Given the description of an element on the screen output the (x, y) to click on. 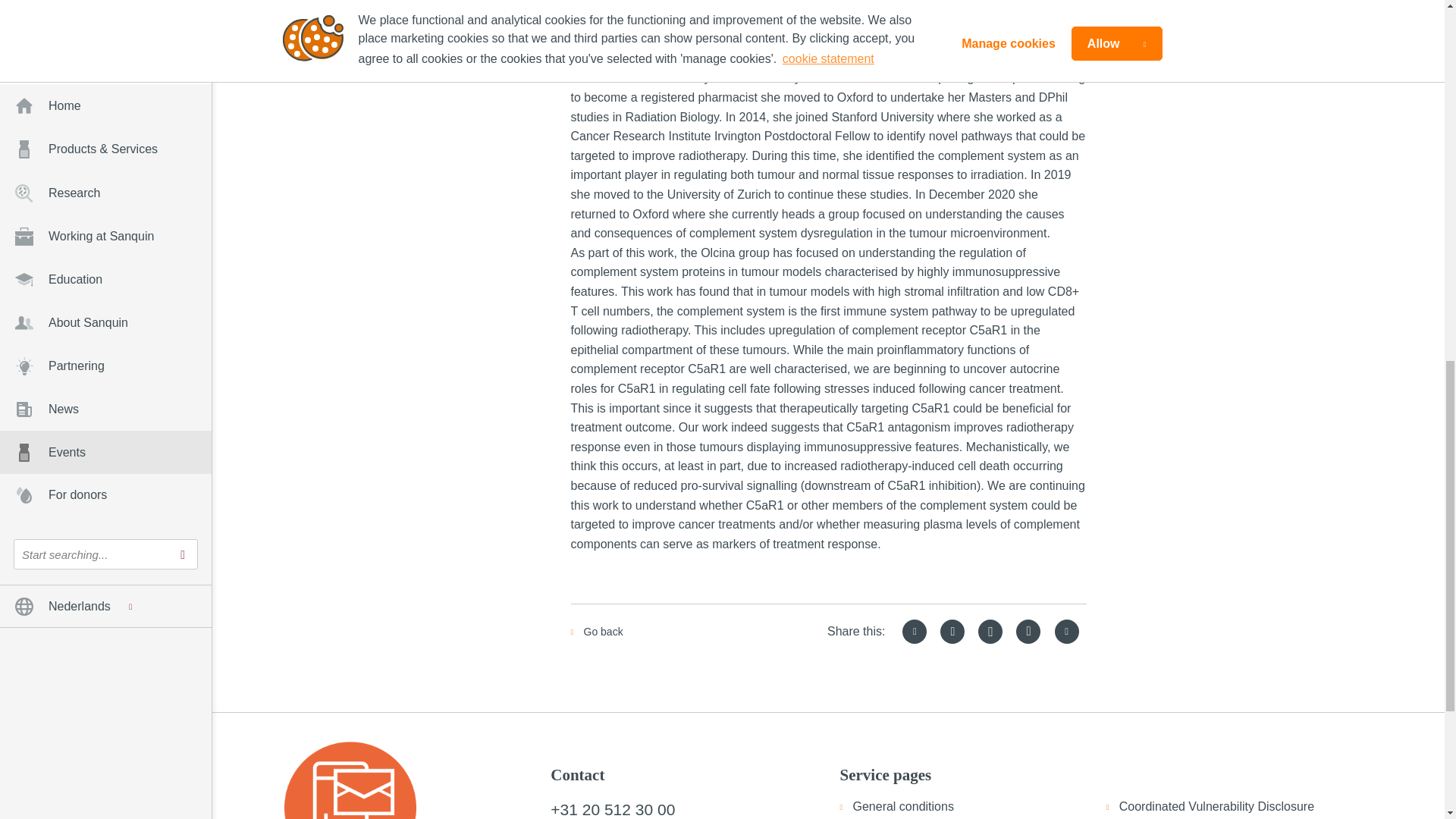
Twitter (914, 631)
Facebook (990, 631)
WhatsApp (1028, 631)
E-mail (1066, 631)
LinkedIn (951, 631)
